Given the description of an element on the screen output the (x, y) to click on. 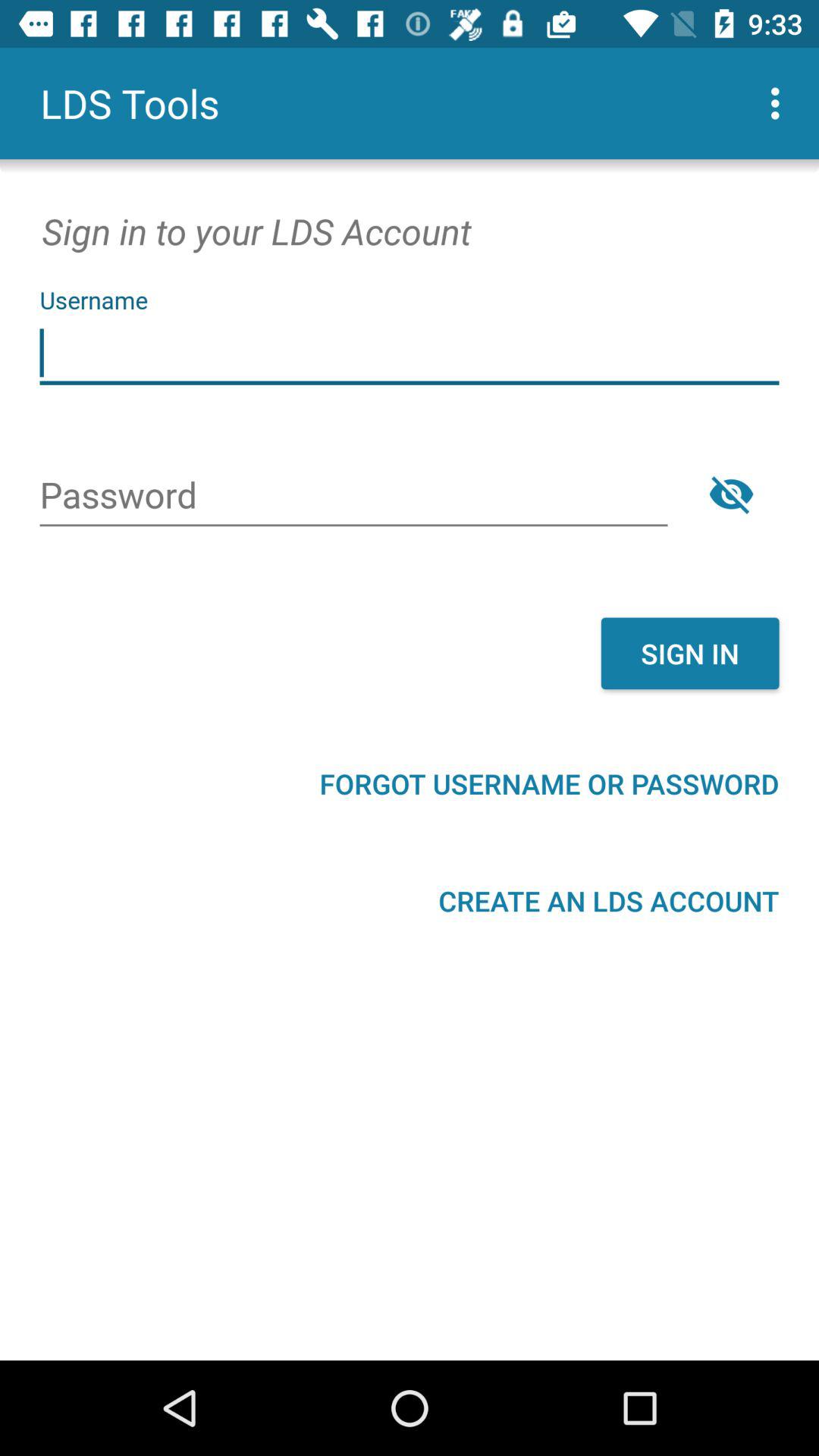
type password (353, 497)
